Given the description of an element on the screen output the (x, y) to click on. 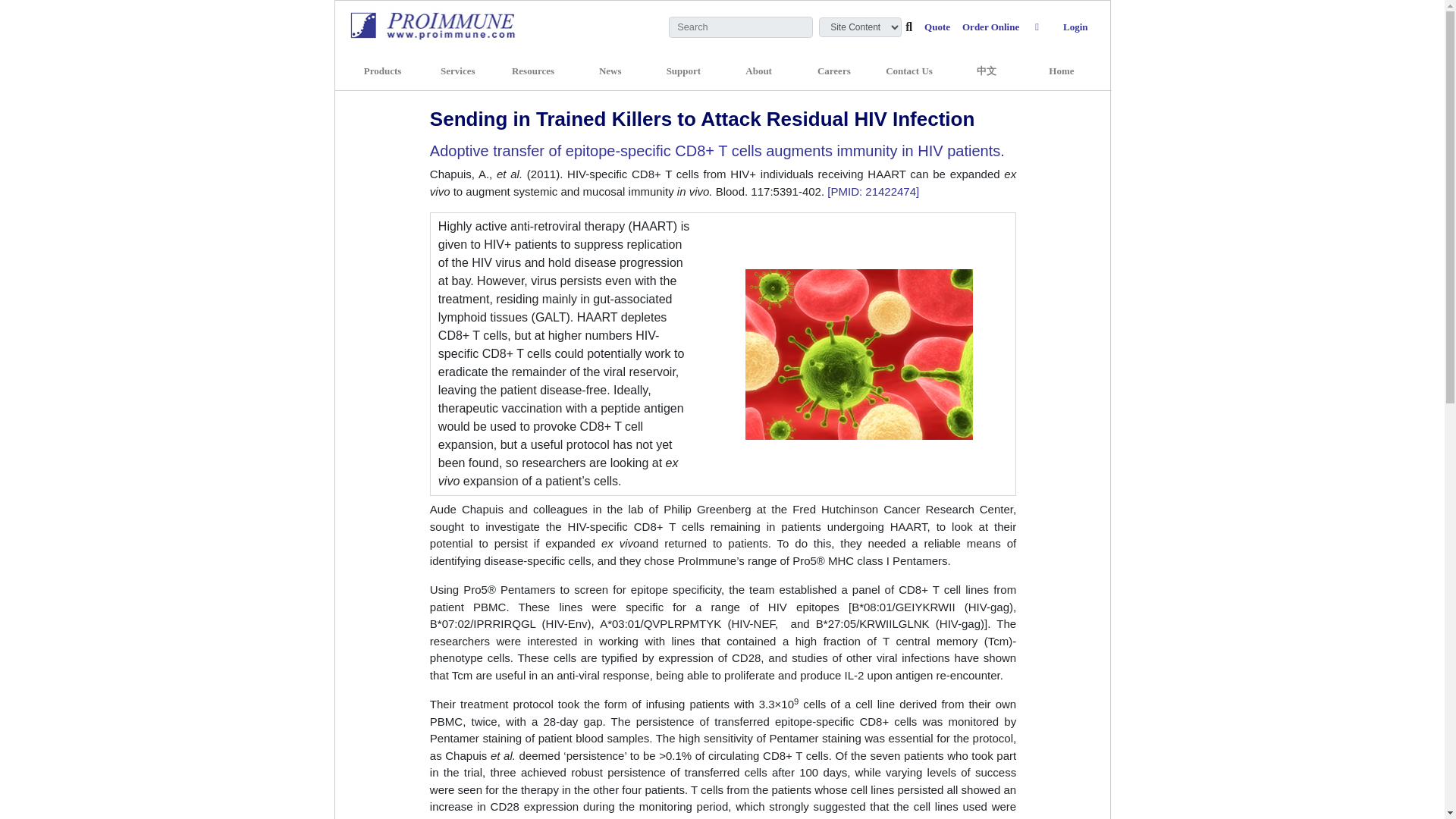
Products (383, 71)
